Given the description of an element on the screen output the (x, y) to click on. 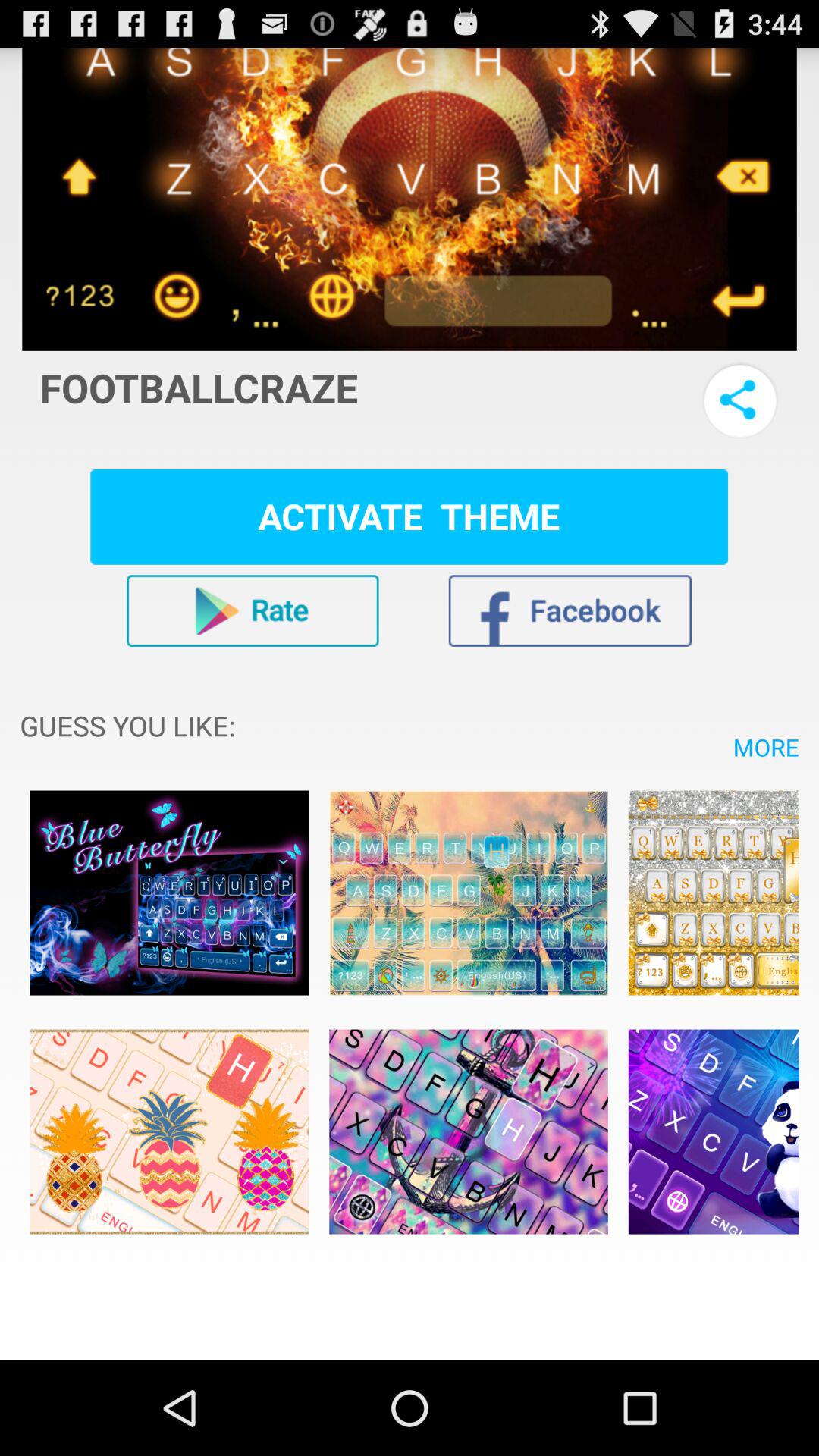
share with (740, 400)
